Given the description of an element on the screen output the (x, y) to click on. 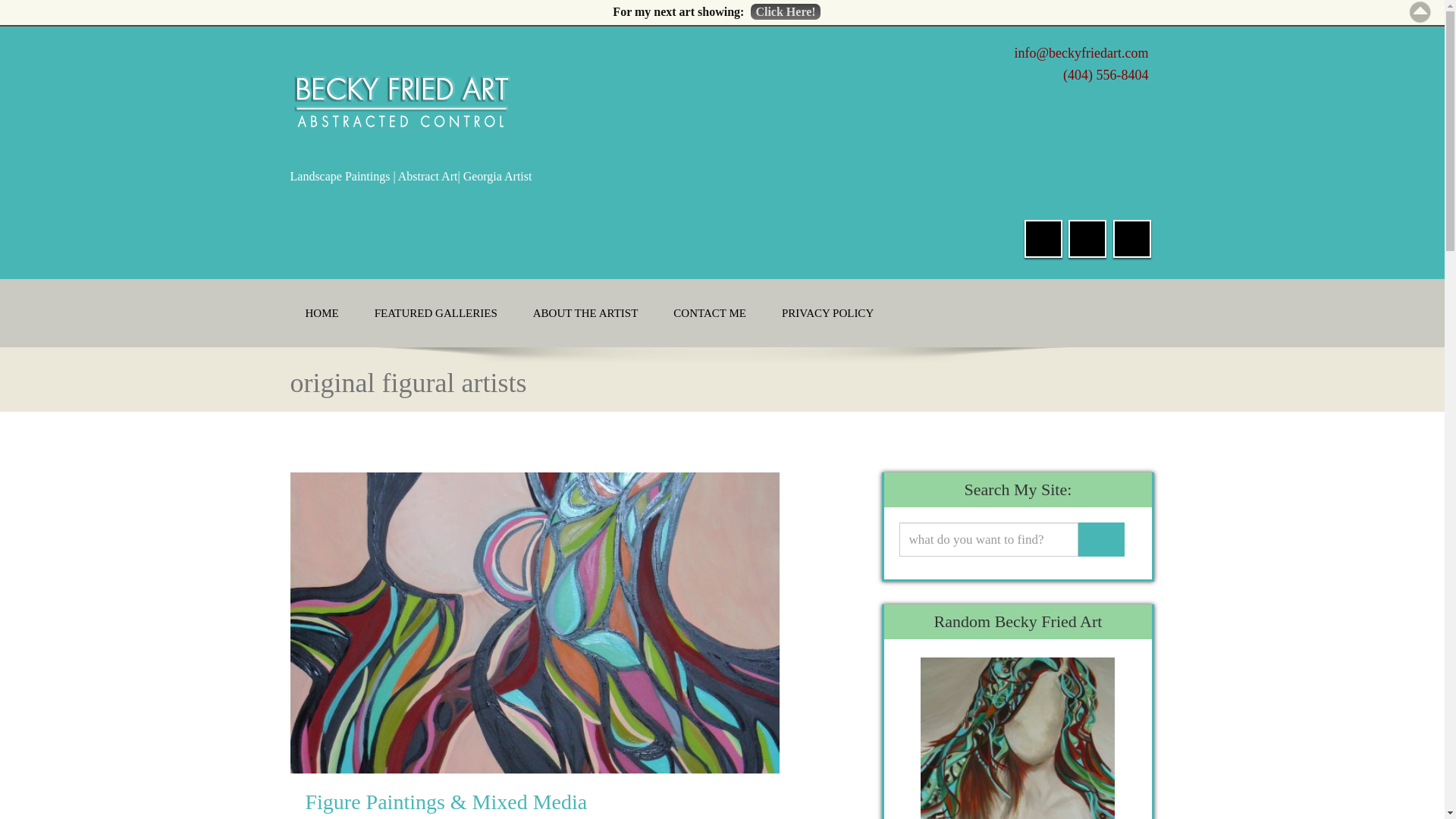
ABOUT THE ARTIST (585, 313)
FEATURED GALLERIES (435, 313)
HOME (321, 313)
PRIVACY POLICY (827, 313)
CONTACT ME (709, 313)
